Given the description of an element on the screen output the (x, y) to click on. 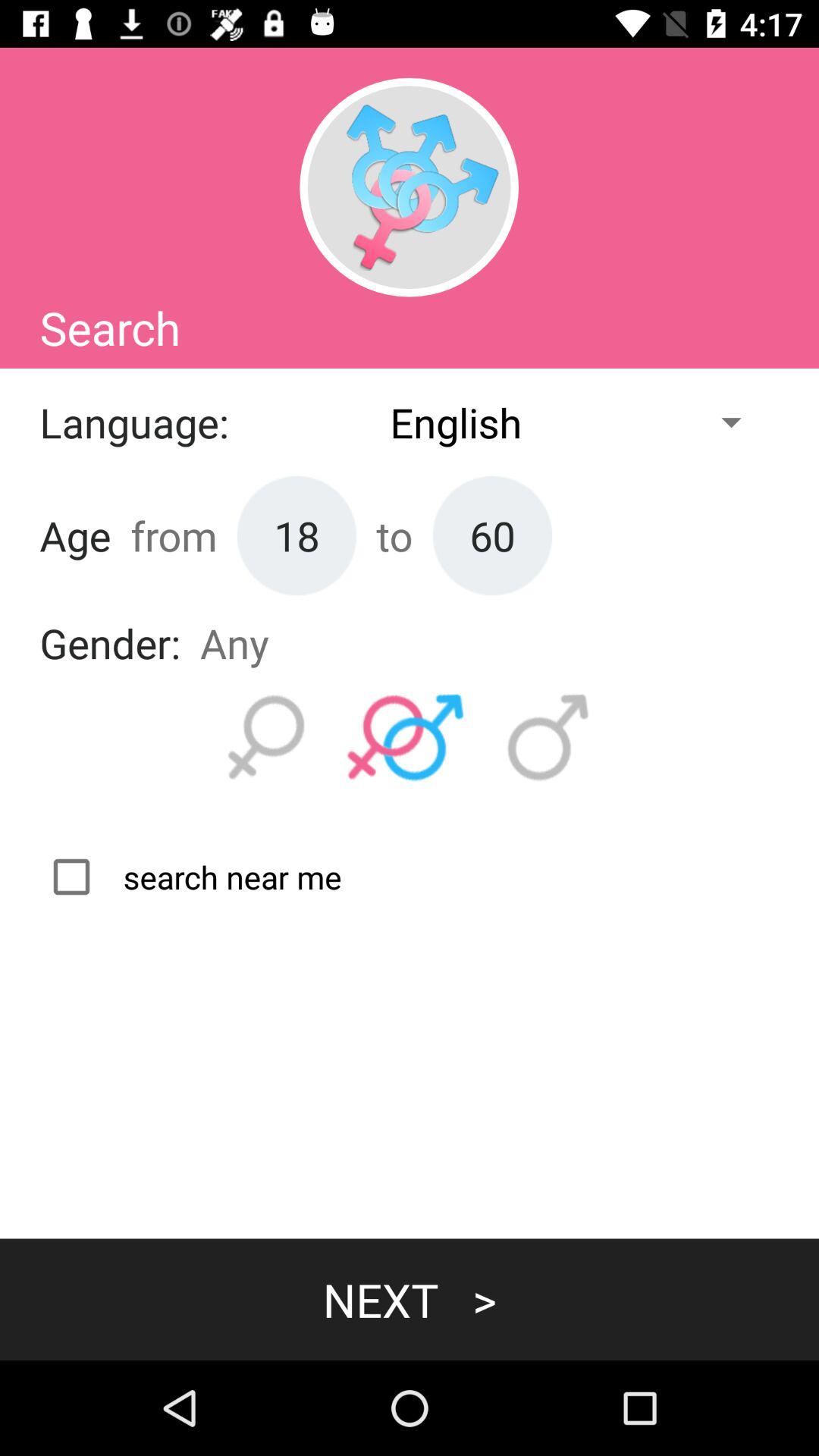
set the any gender option (405, 738)
